Given the description of an element on the screen output the (x, y) to click on. 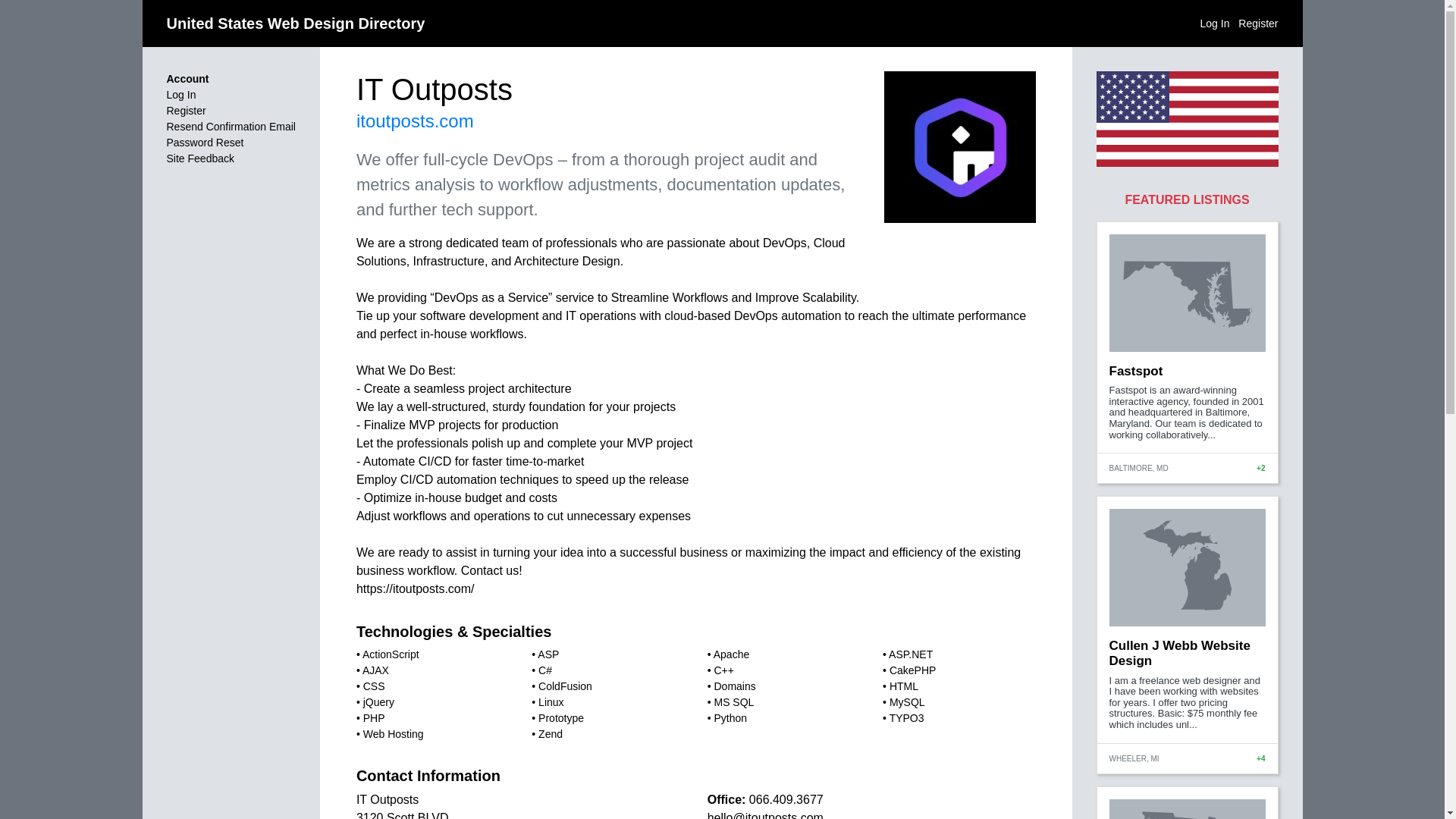
Web Hosting (392, 734)
066.409.3677 (786, 799)
Apache (731, 654)
TYPO3 (906, 717)
PHP (373, 717)
Linux (550, 702)
AJAX (375, 670)
Zend (550, 734)
United States Web Design Directory (296, 23)
jQuery (378, 702)
itoutposts.com (415, 120)
ASP (548, 654)
HTML (903, 686)
Log In (1214, 22)
ActionScript (390, 654)
